Given the description of an element on the screen output the (x, y) to click on. 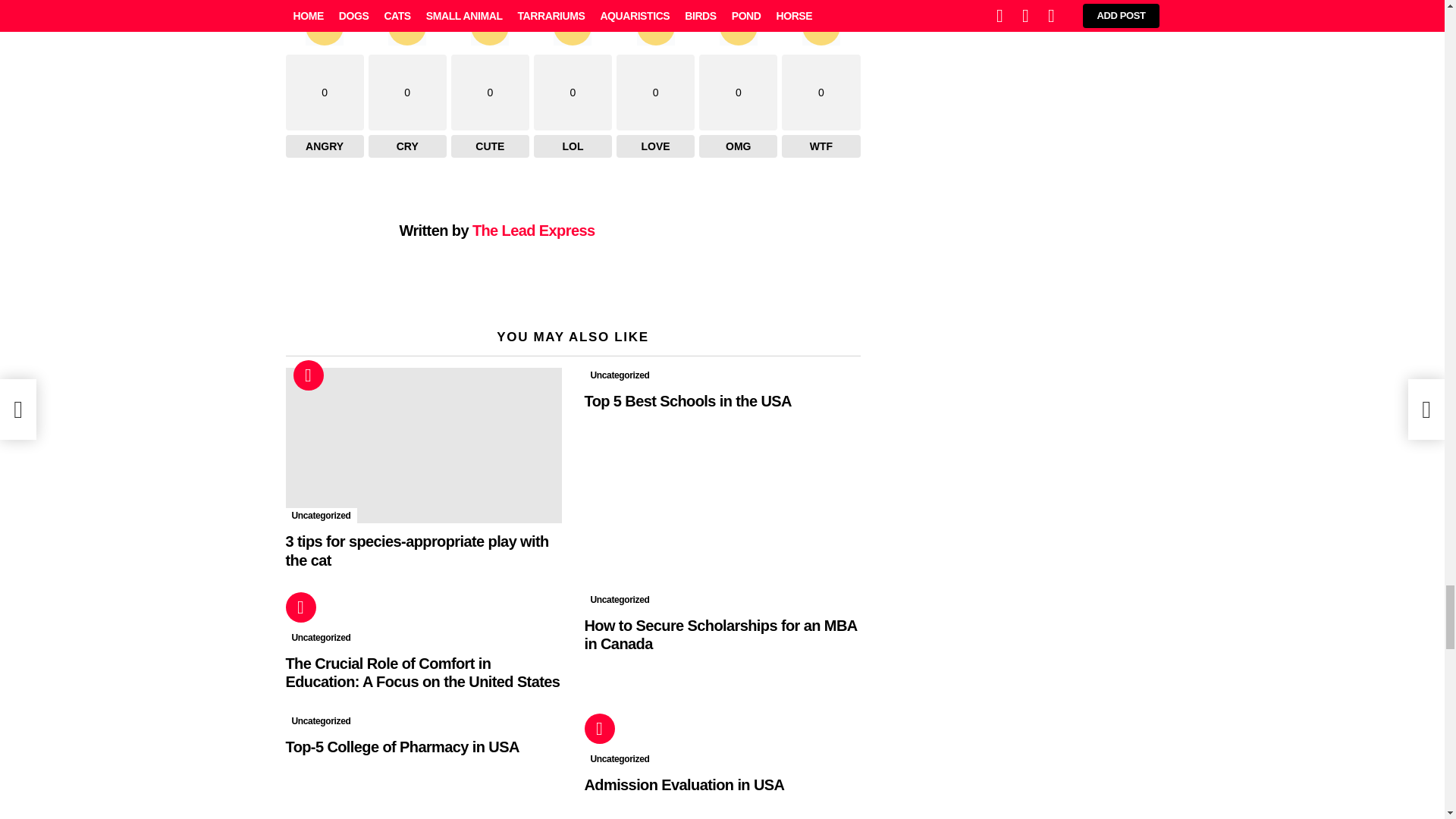
Hot (307, 375)
Hot (598, 728)
3 tips for species-appropriate play with the cat (422, 445)
Hot (300, 607)
